Given the description of an element on the screen output the (x, y) to click on. 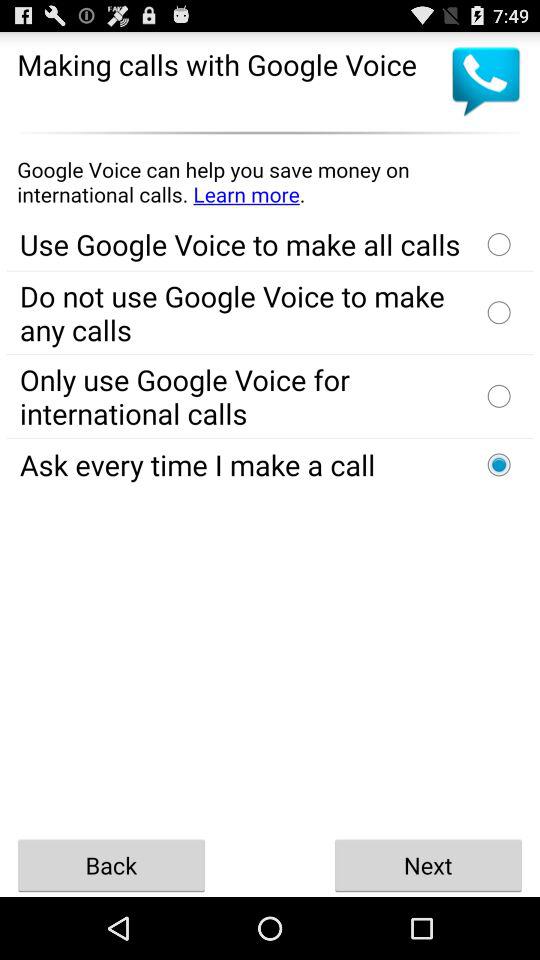
learn more (269, 182)
